Given the description of an element on the screen output the (x, y) to click on. 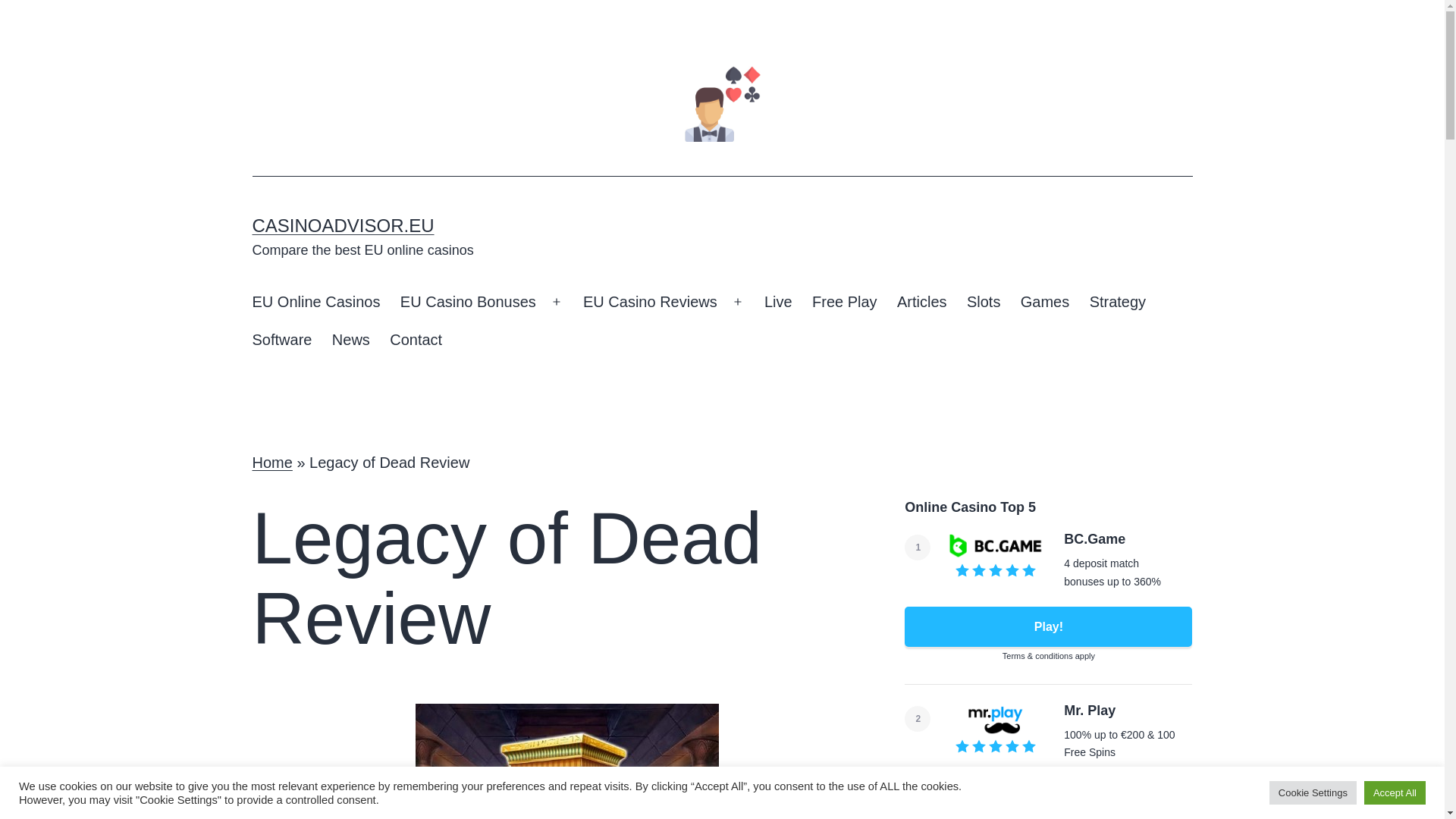
Software (281, 339)
Articles (921, 301)
Home (271, 462)
Strategy (1117, 301)
CASINOADVISOR.EU (342, 225)
EU Casino Reviews (649, 301)
Live (778, 301)
Games (1045, 301)
EU Casino Bonuses (468, 301)
Play! (1048, 797)
